Given the description of an element on the screen output the (x, y) to click on. 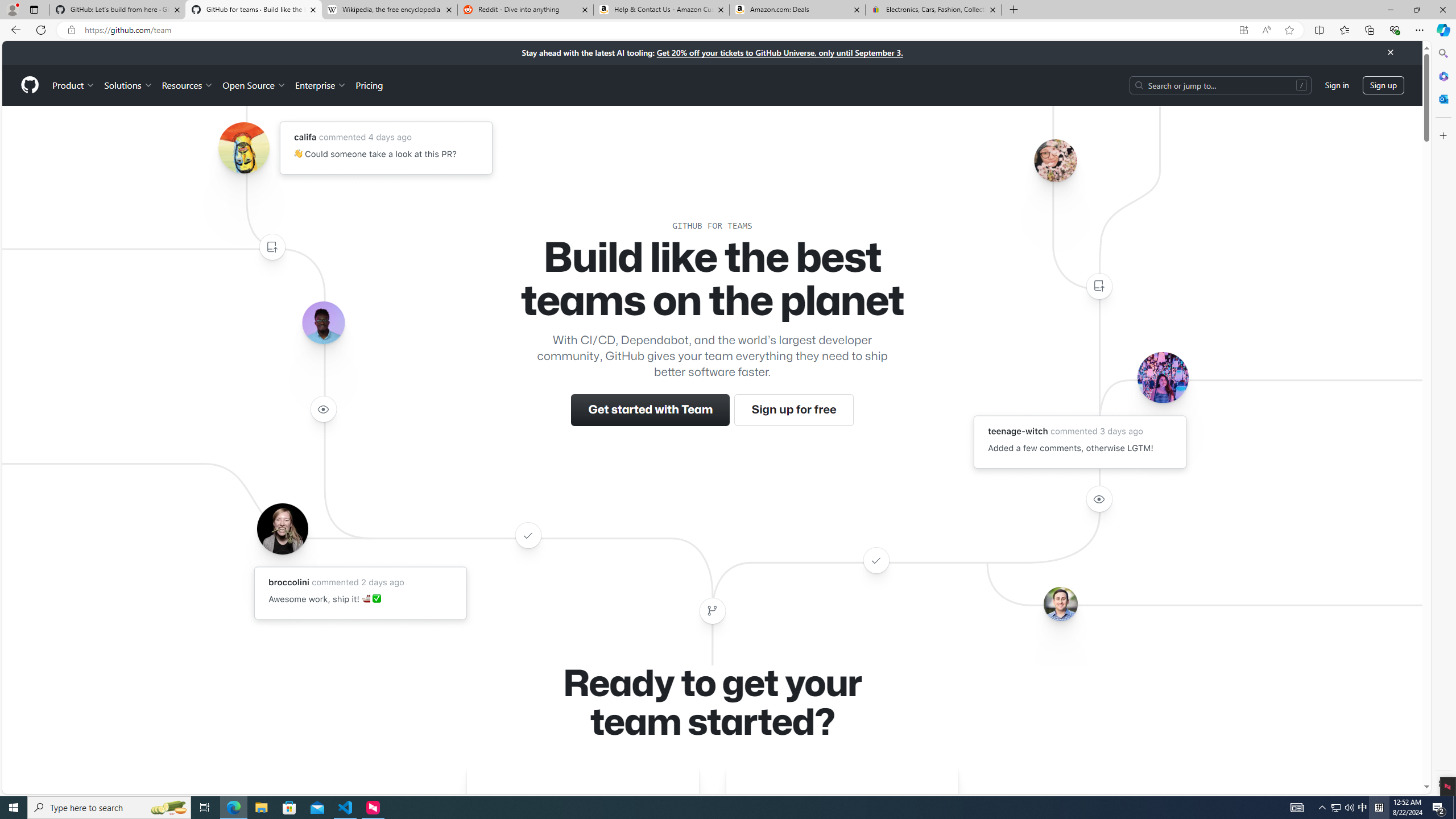
Resources (187, 84)
Enterprise (319, 84)
Homepage (29, 85)
Enterprise (319, 84)
Avatar of the user ohjoycelau (1054, 159)
Avatar of the user benbalter (1059, 604)
